Given the description of an element on the screen output the (x, y) to click on. 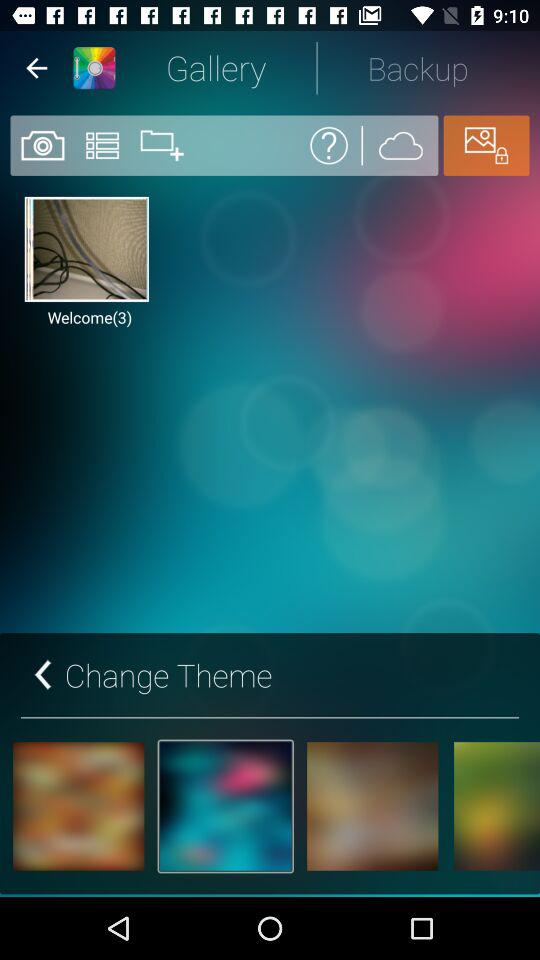
select the first image on the web page (86, 249)
select icon which on left side of cloud icon (329, 145)
click the button change theme on the web page (151, 675)
